Given the description of an element on the screen output the (x, y) to click on. 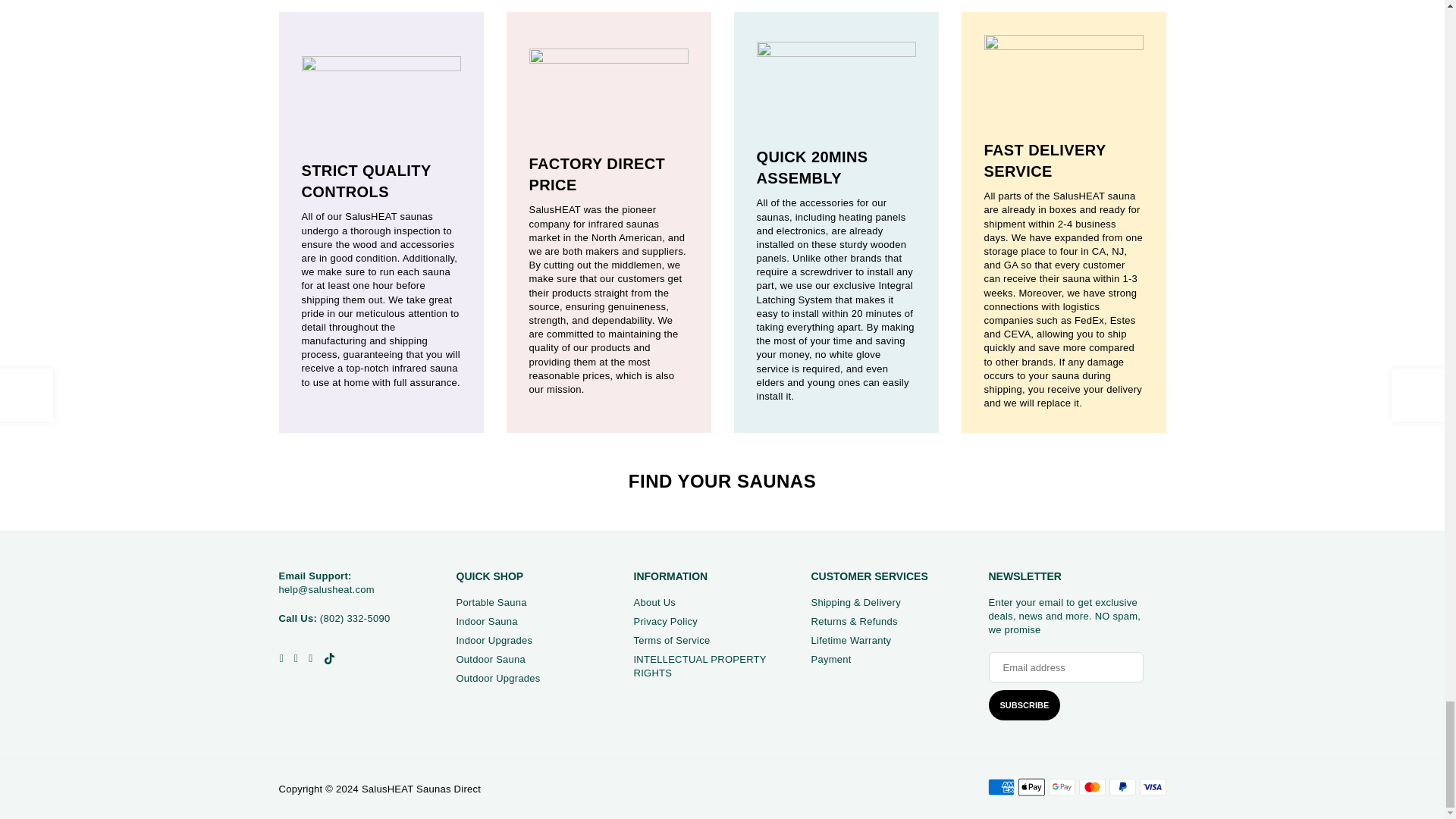
PayPal (1121, 787)
Apple Pay (1030, 787)
Mastercard (1091, 787)
American Express (1000, 787)
Google Pay (1061, 787)
Visa (1152, 787)
